Given the description of an element on the screen output the (x, y) to click on. 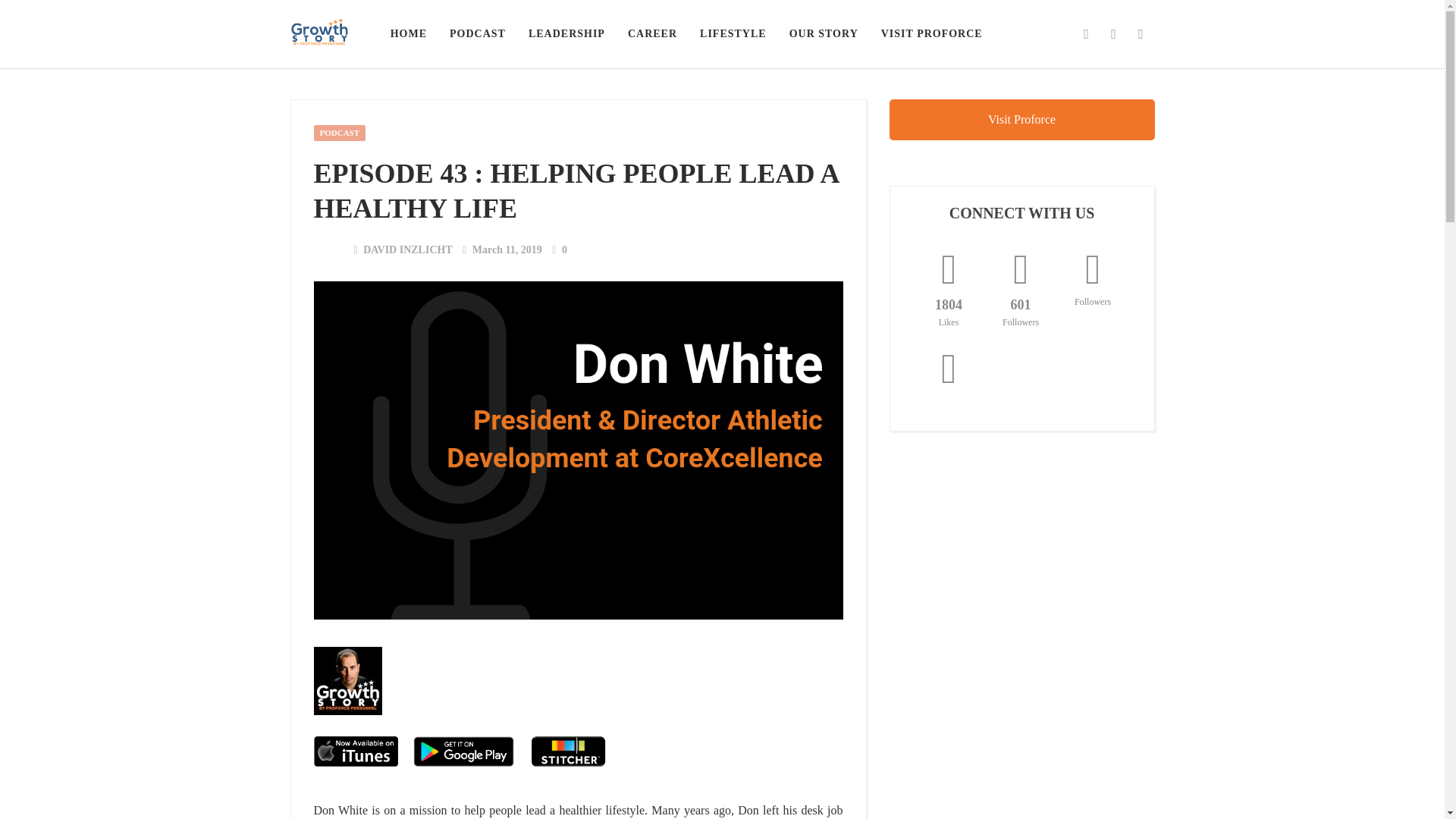
DAVID INZLICHT (407, 249)
PODCAST (340, 132)
LIFESTYLE (732, 33)
Posts by David Inzlicht (407, 249)
OUR STORY (823, 33)
VISIT PROFORCE (931, 33)
CAREER (651, 33)
PODCAST (477, 33)
LEADERSHIP (565, 33)
